Given the description of an element on the screen output the (x, y) to click on. 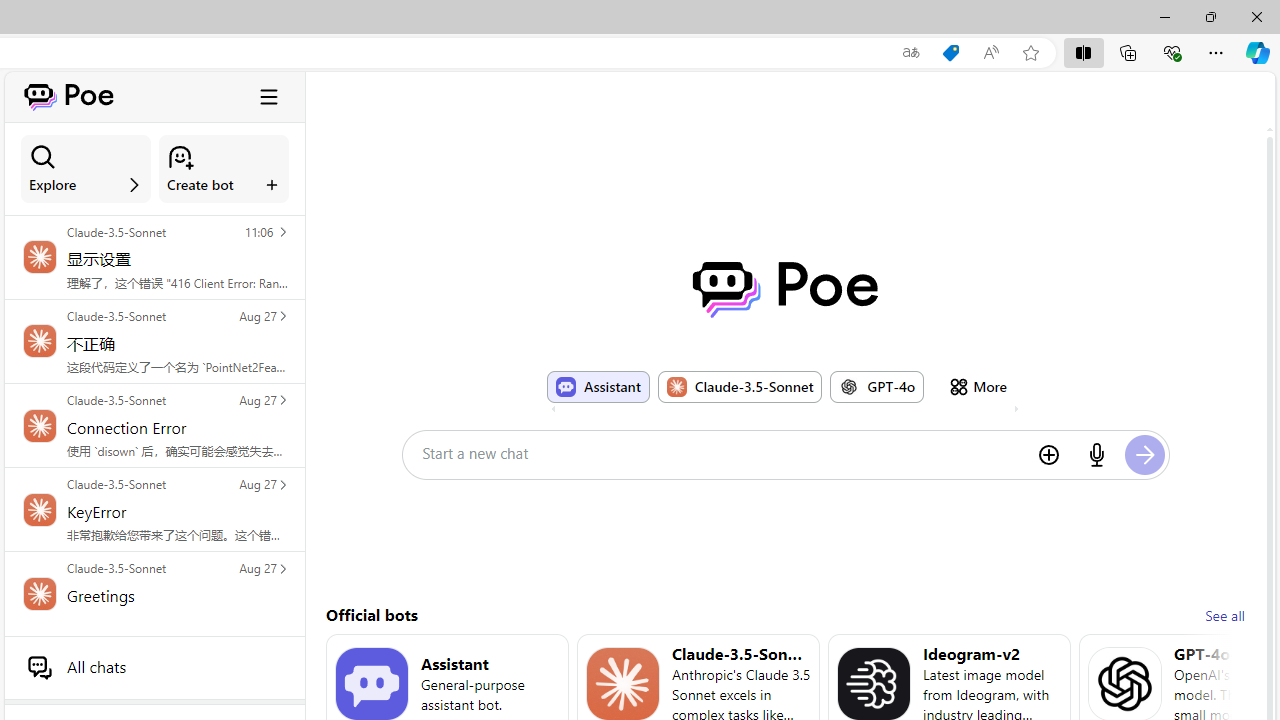
Toggle sidebar collapse (269, 96)
This site has coupons! Shopping in Microsoft Edge (950, 53)
Start a new chat (721, 453)
More (977, 385)
Class: ManageBotsCardSection_searchIcon__laGLi (43, 157)
Bot image for GPT-4o GPT-4o (877, 386)
Bot image for GPT-4o-Mini (1124, 683)
